Given the description of an element on the screen output the (x, y) to click on. 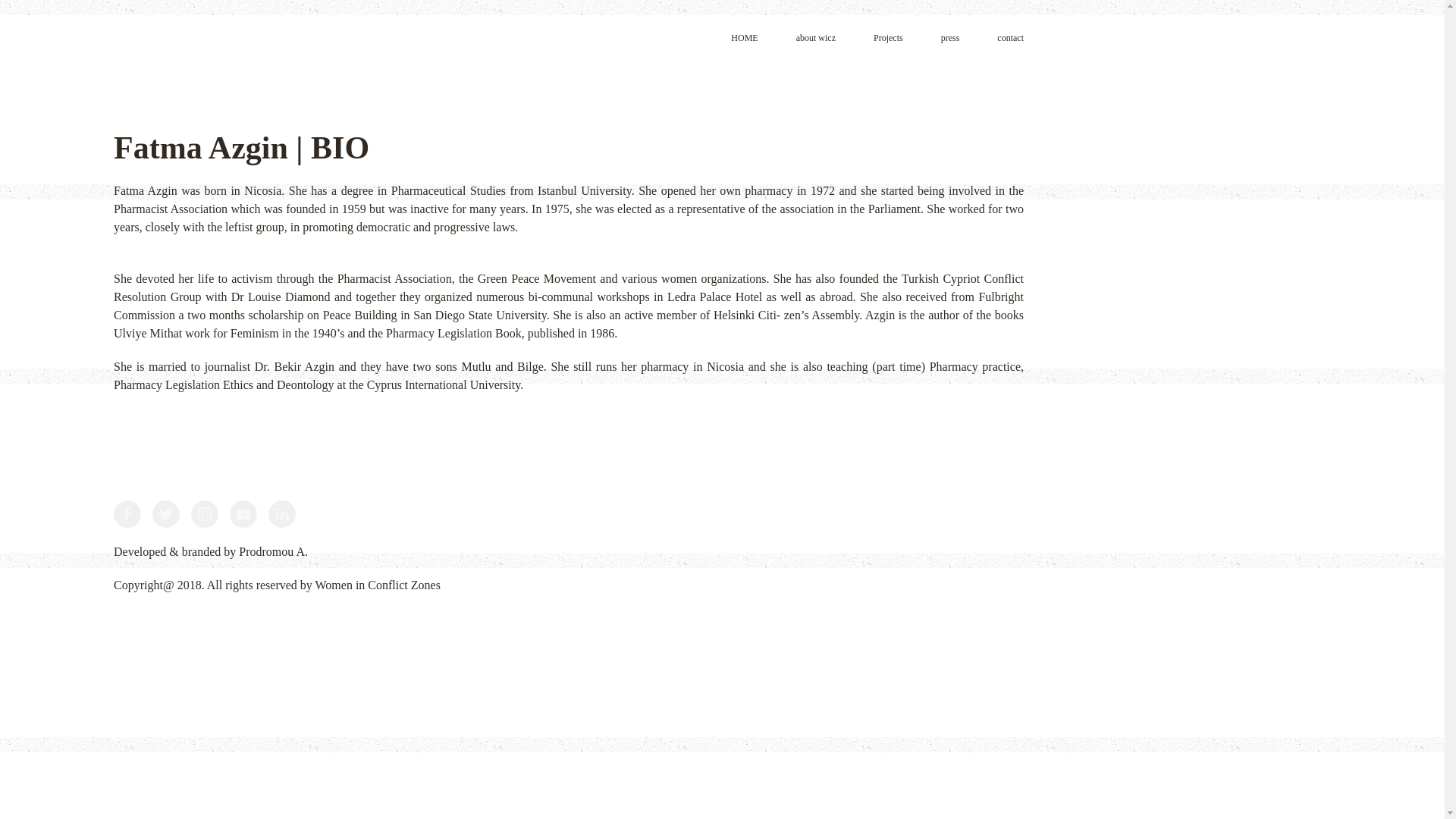
contact (1010, 38)
HOME (743, 38)
Projects (887, 38)
press (949, 38)
about wicz (815, 38)
